Given the description of an element on the screen output the (x, y) to click on. 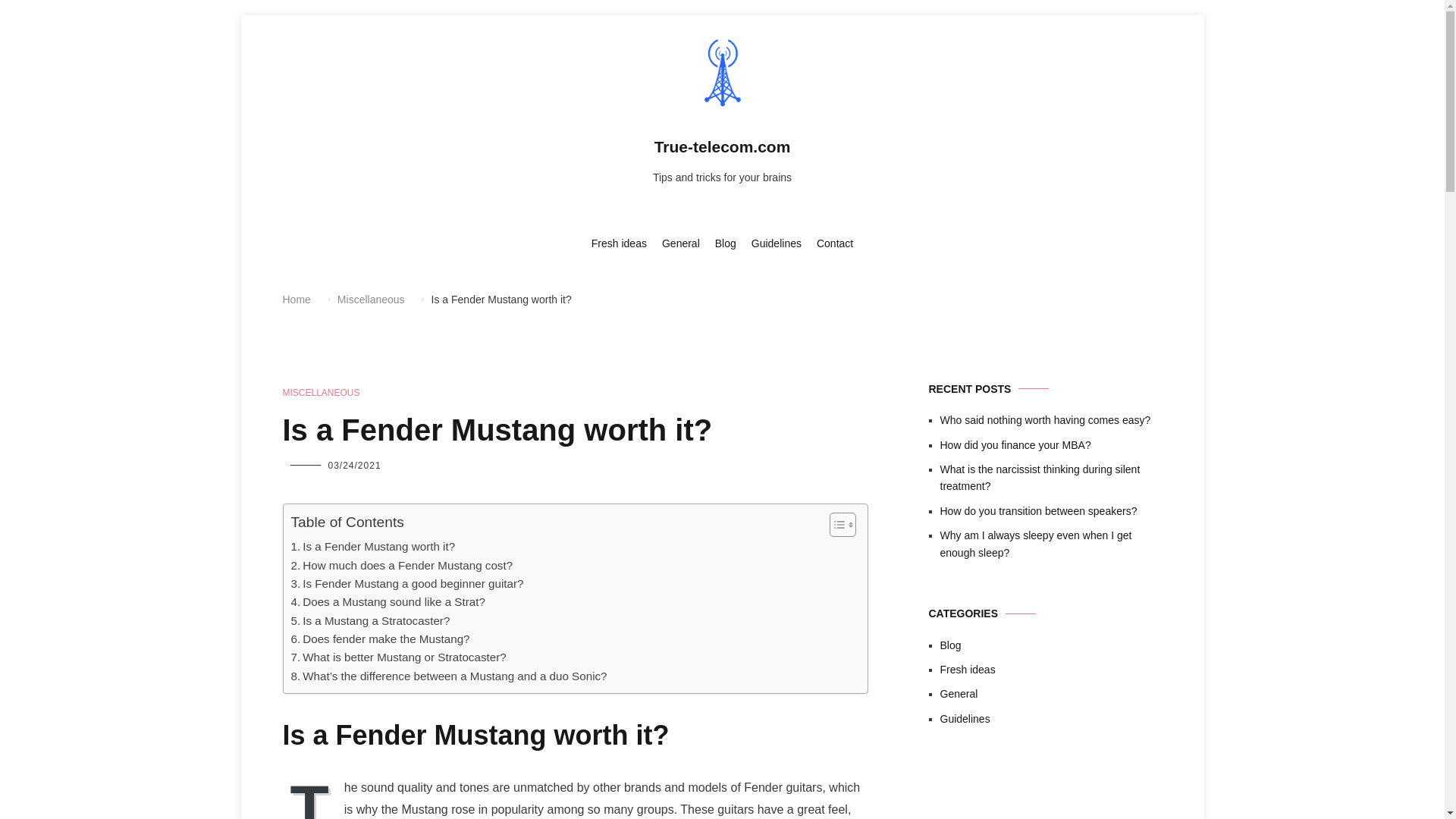
MISCELLANEOUS (320, 392)
T (312, 798)
True-telecom.com (721, 146)
Is a Mustang a Stratocaster? (370, 620)
Contact (834, 244)
General (681, 244)
Home (296, 299)
Is a Fender Mustang worth it? (373, 546)
Is Fender Mustang a good beginner guitar? (407, 583)
Is a Mustang a Stratocaster? (370, 620)
